Given the description of an element on the screen output the (x, y) to click on. 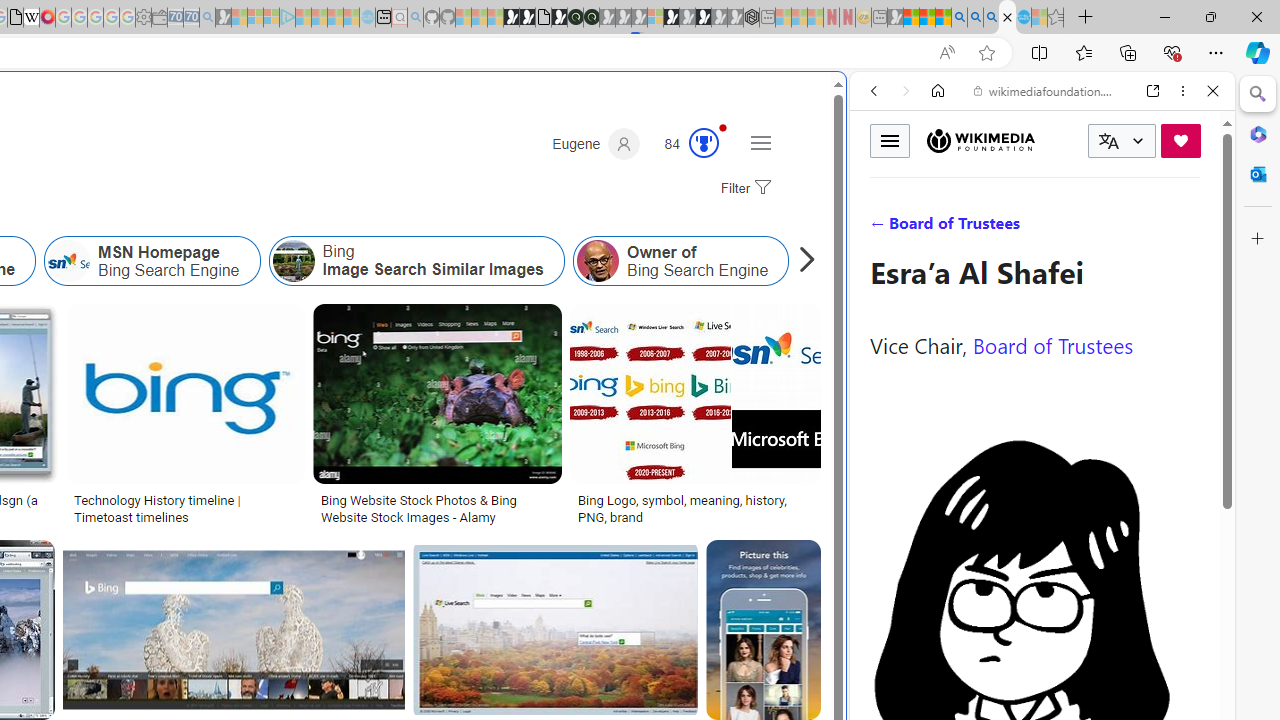
Bing Logo, symbol, meaning, history, PNG, brand (695, 508)
wikimediafoundation.org (1045, 90)
Favorites - Sleeping (1055, 17)
Bing Logo, symbol, meaning, history, PNG, brandSave (694, 417)
Search or enter web address (343, 191)
AutomationID: rh_meter (703, 142)
